Given the description of an element on the screen output the (x, y) to click on. 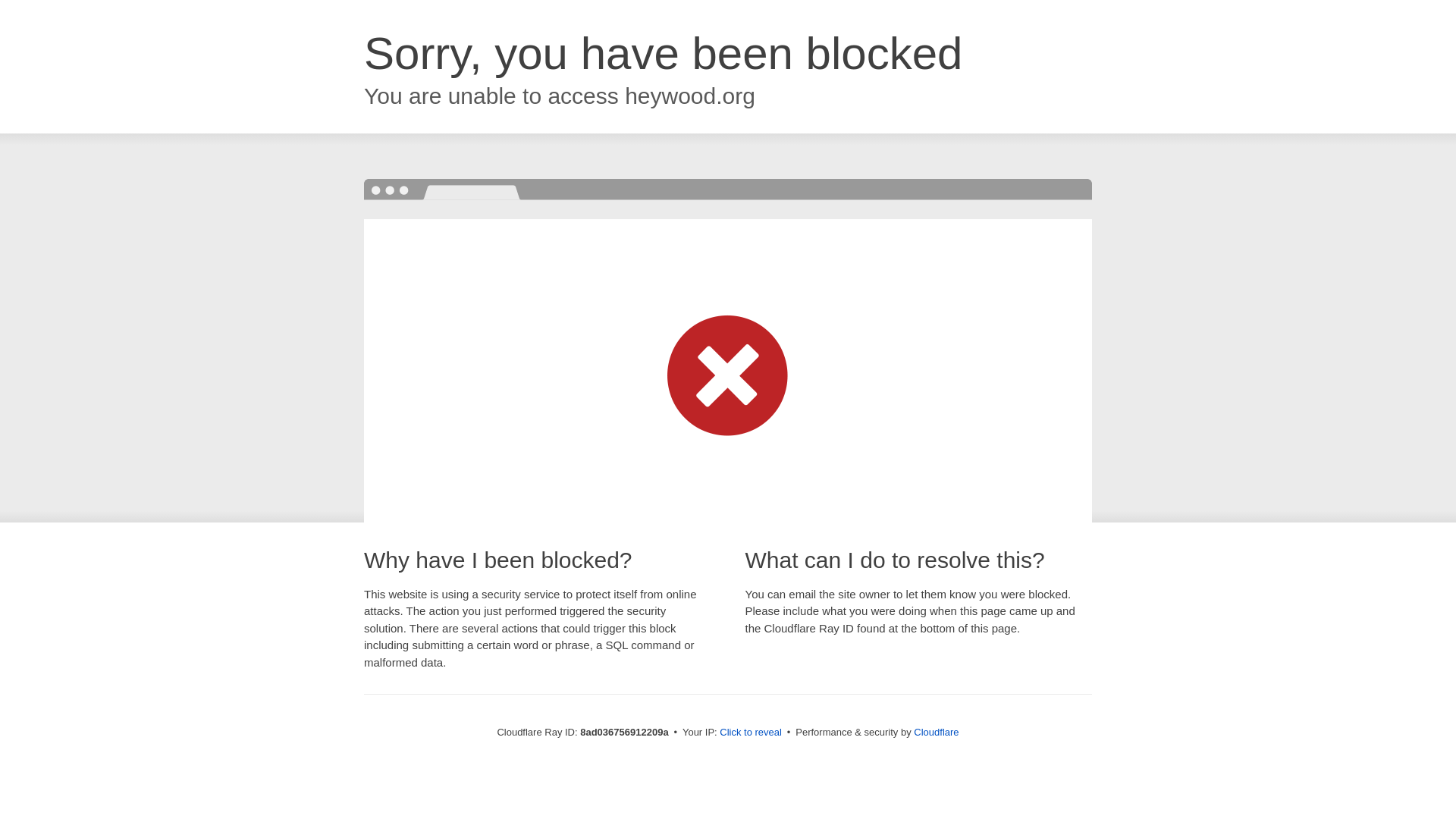
Cloudflare (936, 731)
Click to reveal (750, 732)
